Given the description of an element on the screen output the (x, y) to click on. 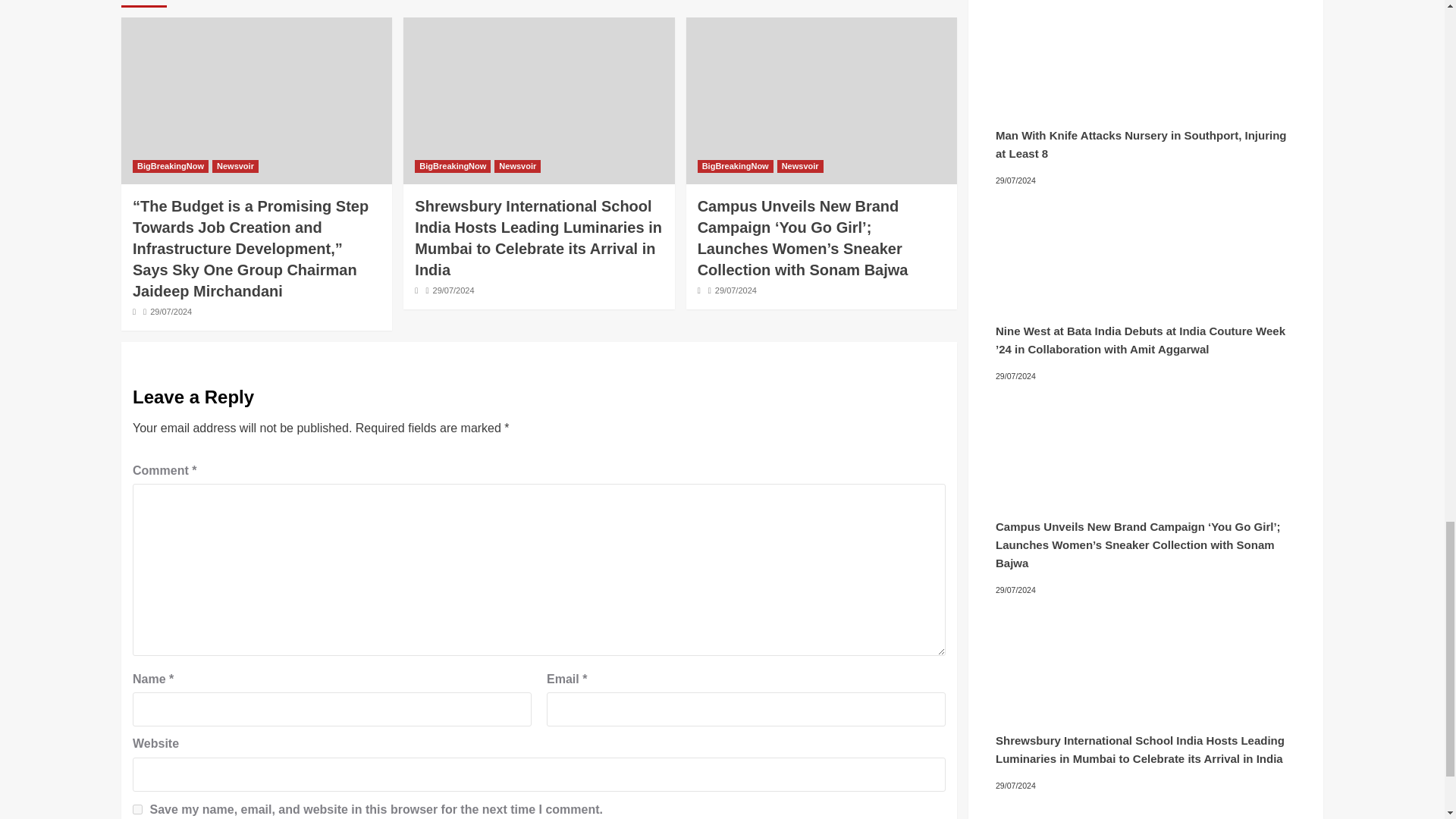
yes (137, 809)
